Given the description of an element on the screen output the (x, y) to click on. 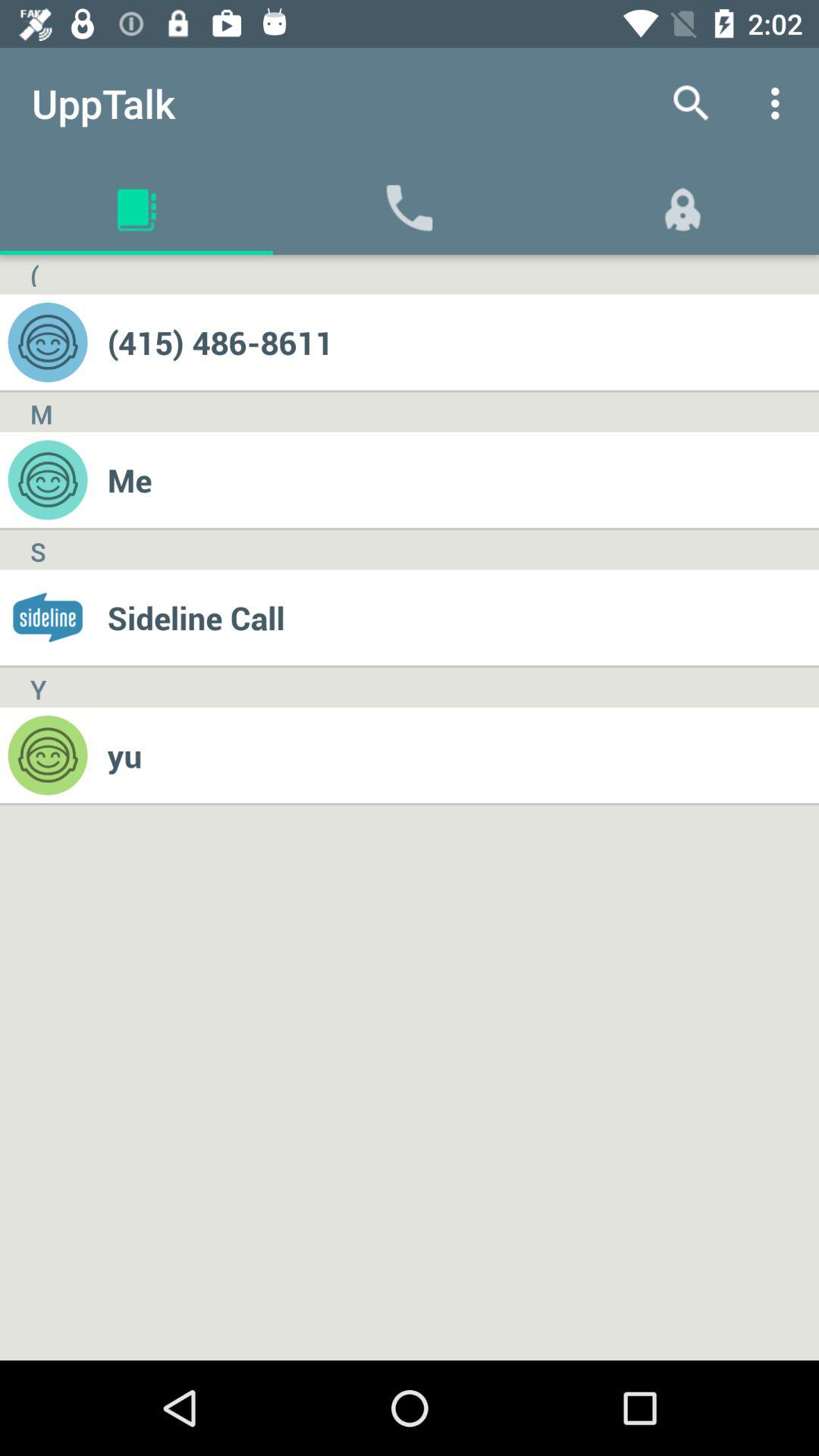
jump to sideline call icon (463, 617)
